Given the description of an element on the screen output the (x, y) to click on. 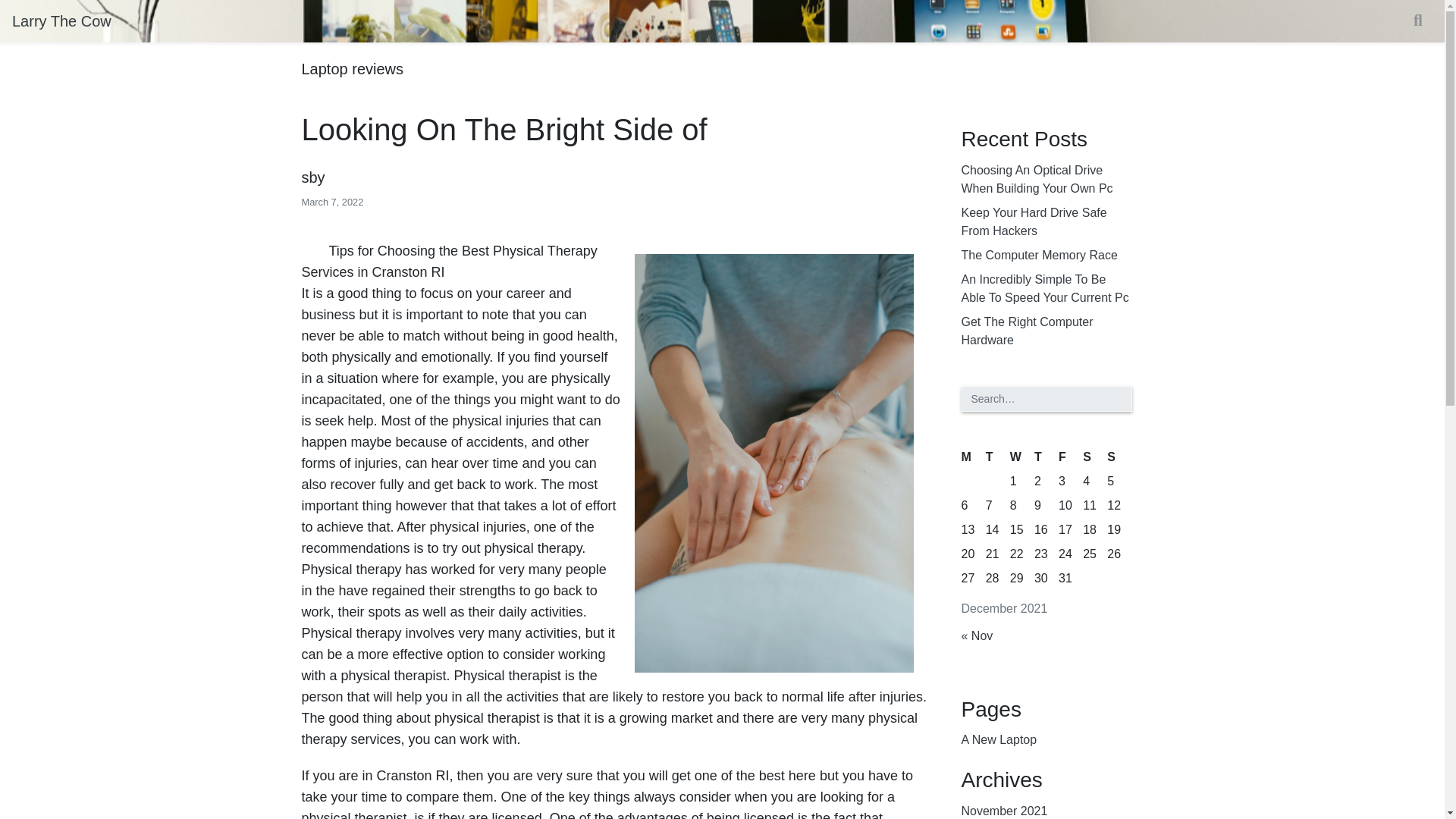
Larry The Cow (61, 20)
Monday (972, 457)
Thursday (1045, 457)
Keep Your Hard Drive Safe From Hackers (1046, 221)
Tuesday (997, 457)
Choosing An Optical Drive When Building Your Own Pc (1046, 179)
The Computer Memory Race (1039, 255)
Saturday (1094, 457)
Wednesday (1021, 457)
Get The Right Computer Hardware (1046, 331)
Sunday (1118, 457)
A New Laptop (998, 740)
November 2021 (1004, 809)
An Incredibly Simple To Be Able To Speed Your Current Pc (1046, 288)
Larry The Cow (61, 20)
